Given the description of an element on the screen output the (x, y) to click on. 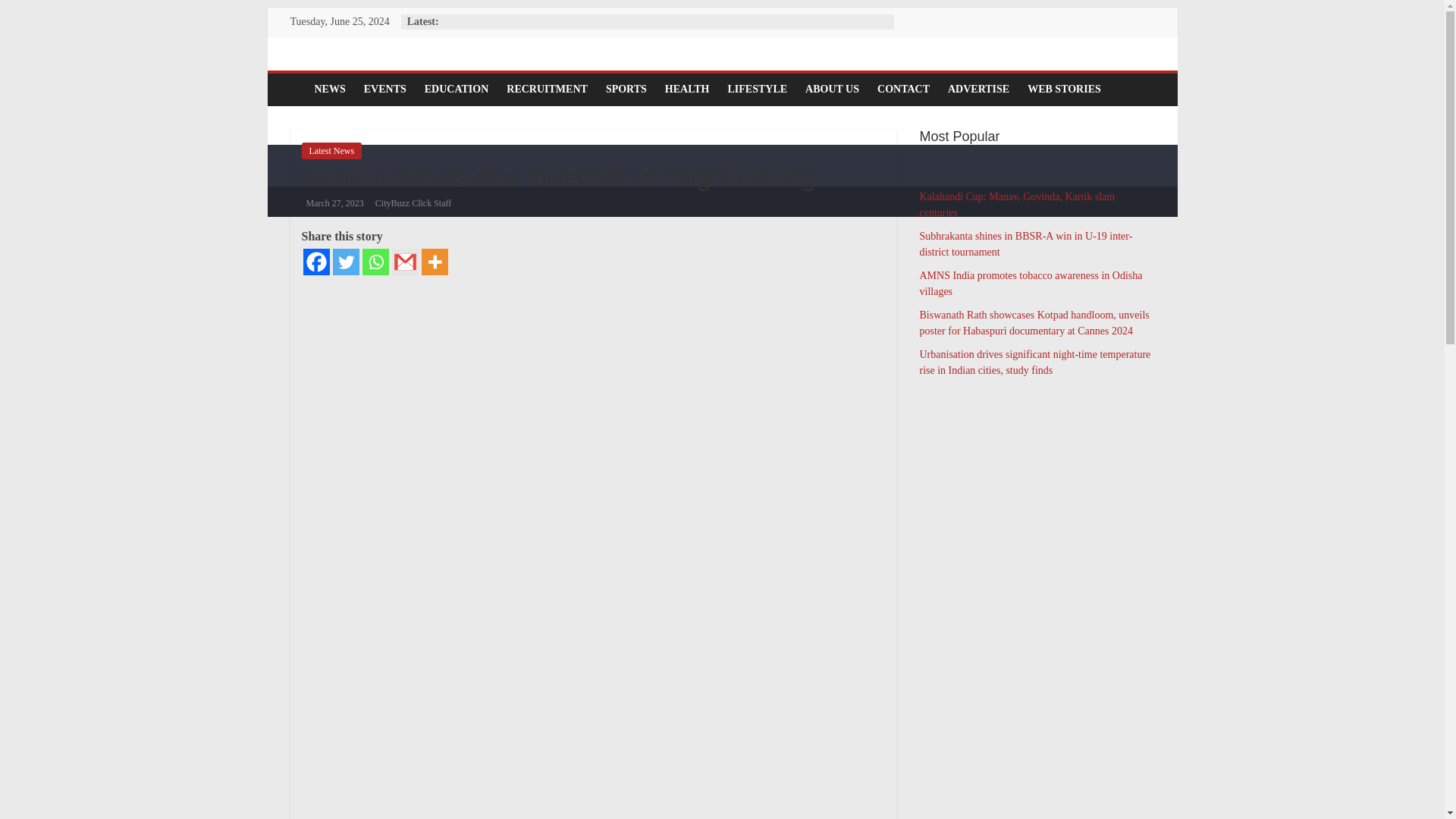
EVENTS (384, 89)
ADVERTISE (978, 89)
RECRUITMENT (546, 89)
EDUCATION (455, 89)
CONTACT (903, 89)
1:46 pm (332, 203)
ABOUT US (831, 89)
Latest News (331, 150)
SPORTS (626, 89)
March 27, 2023 (332, 203)
